Given the description of an element on the screen output the (x, y) to click on. 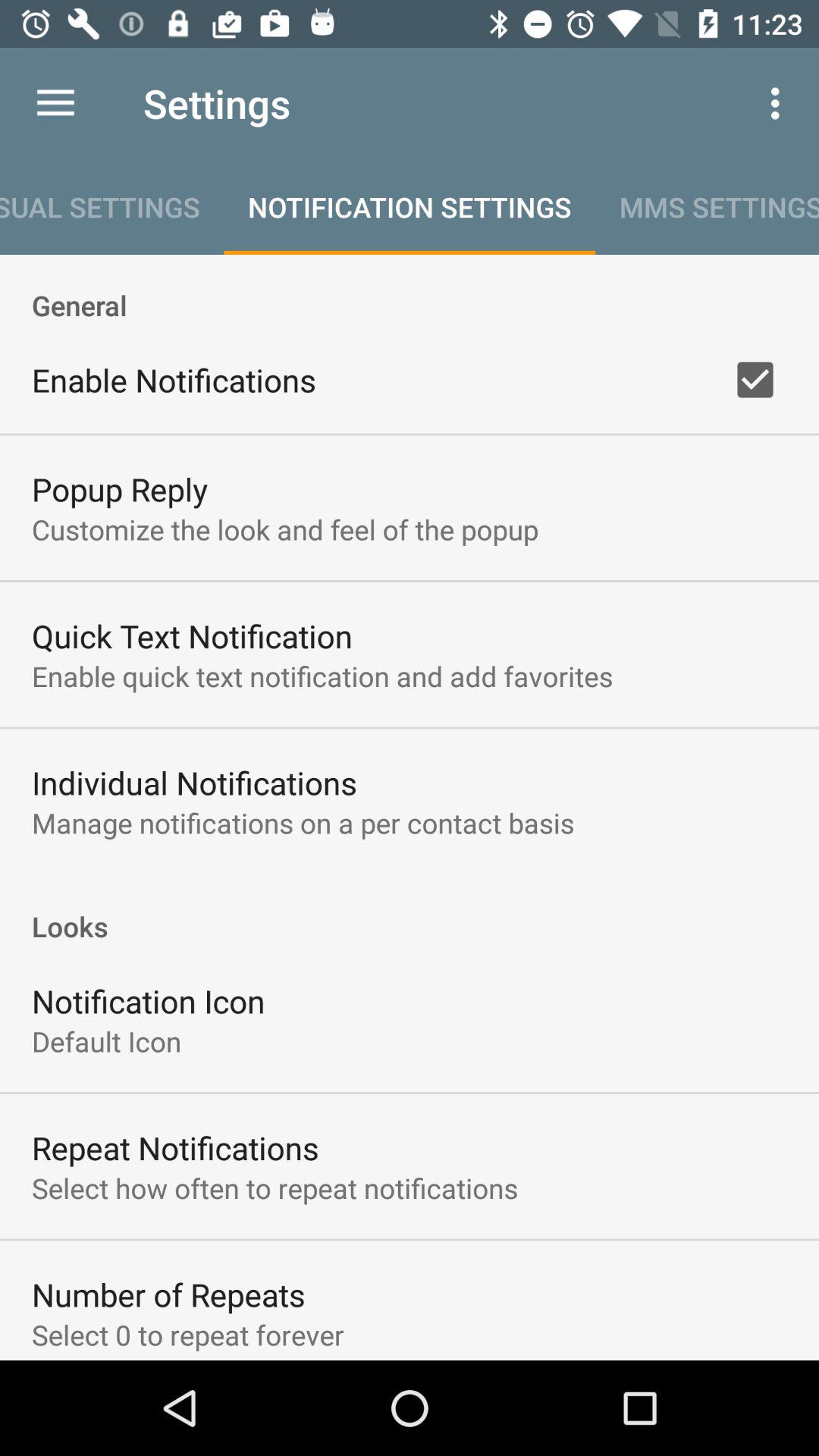
jump until general icon (409, 289)
